Given the description of an element on the screen output the (x, y) to click on. 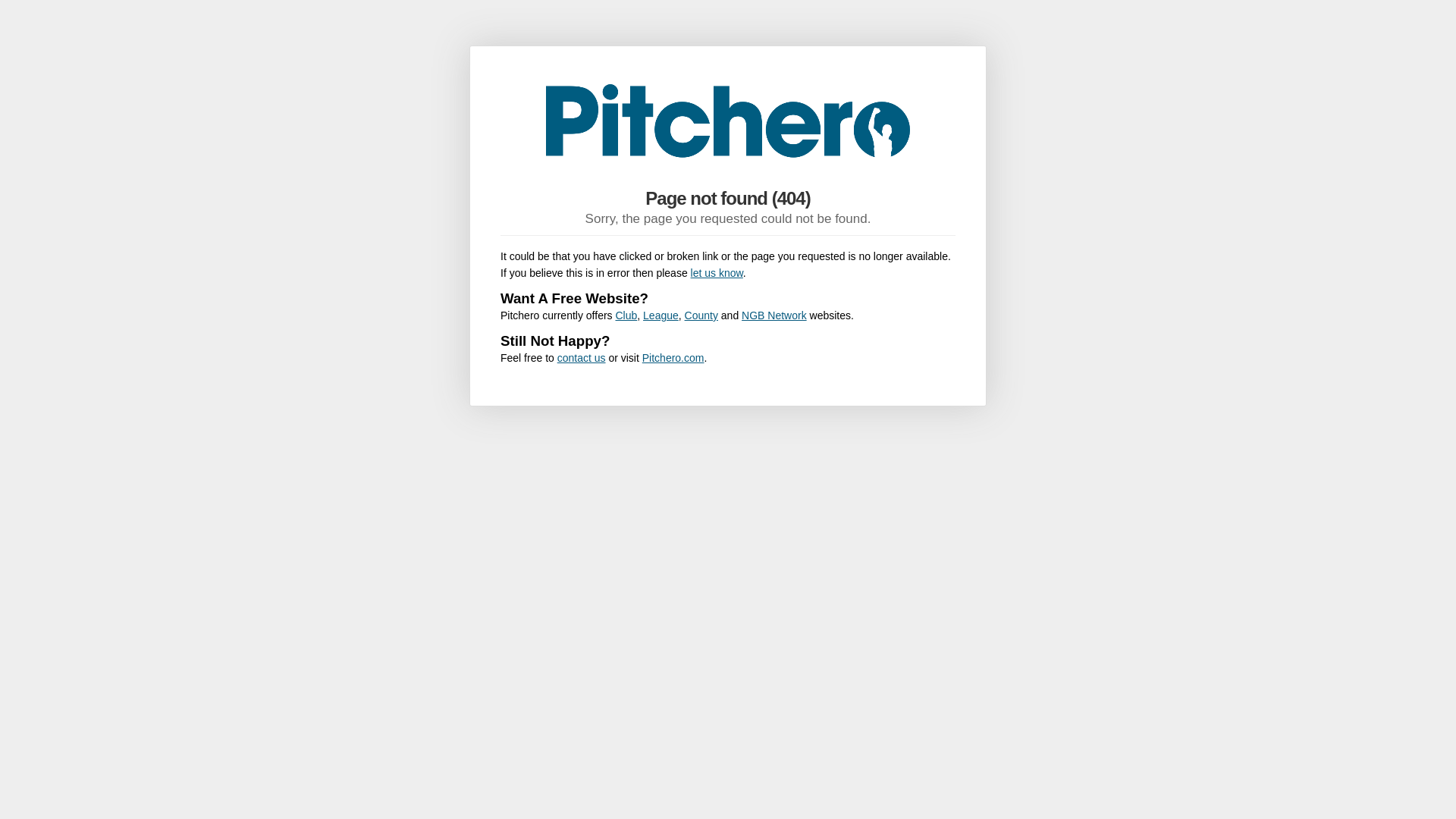
NGB Network (773, 315)
Club (625, 315)
League (660, 315)
County (700, 315)
let us know (716, 272)
